Given the description of an element on the screen output the (x, y) to click on. 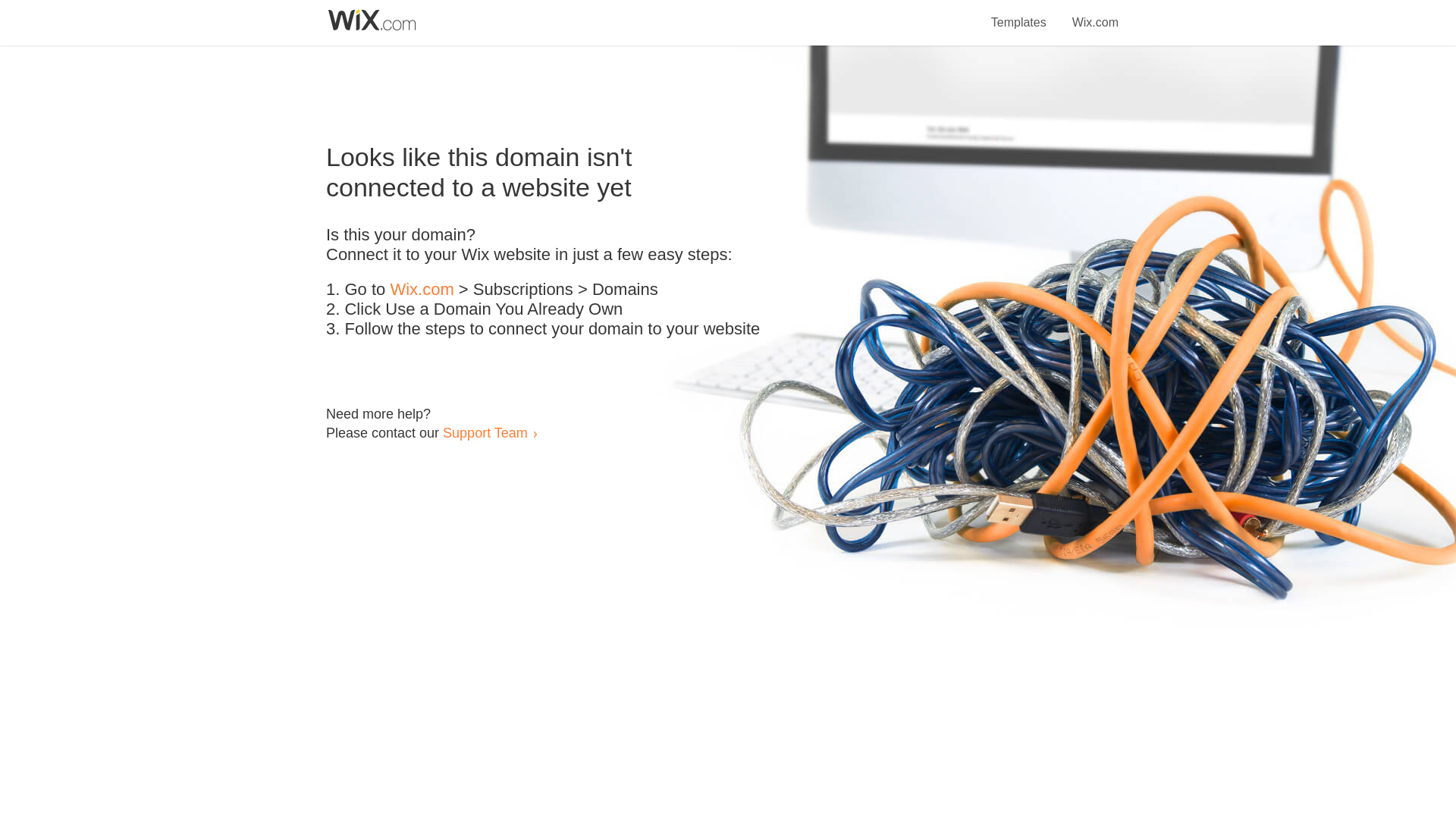
Wix.com (1095, 14)
Templates (1018, 14)
Wix.com (421, 289)
Support Team (484, 432)
